Given the description of an element on the screen output the (x, y) to click on. 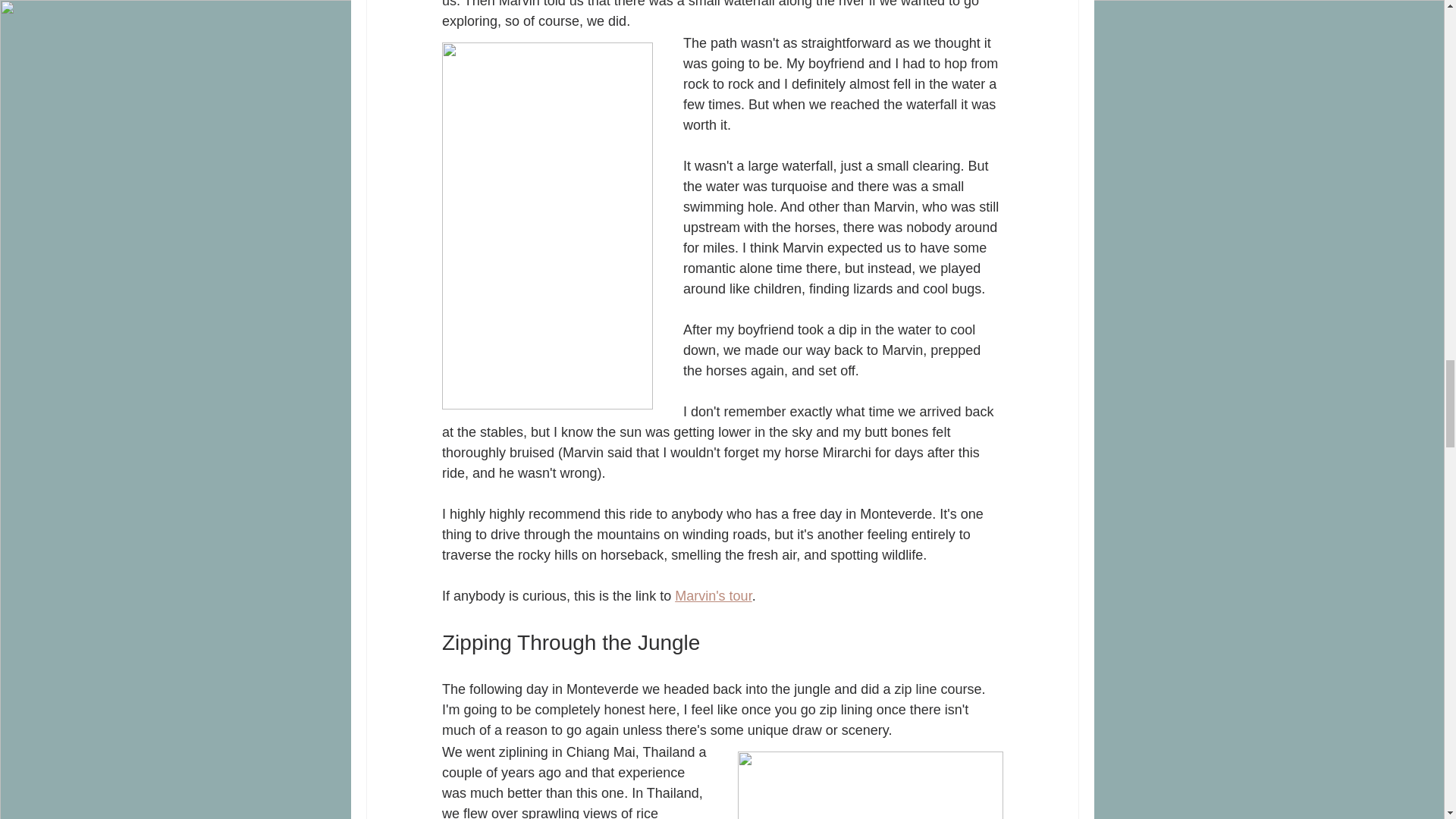
Marvin's tour (713, 595)
